Given the description of an element on the screen output the (x, y) to click on. 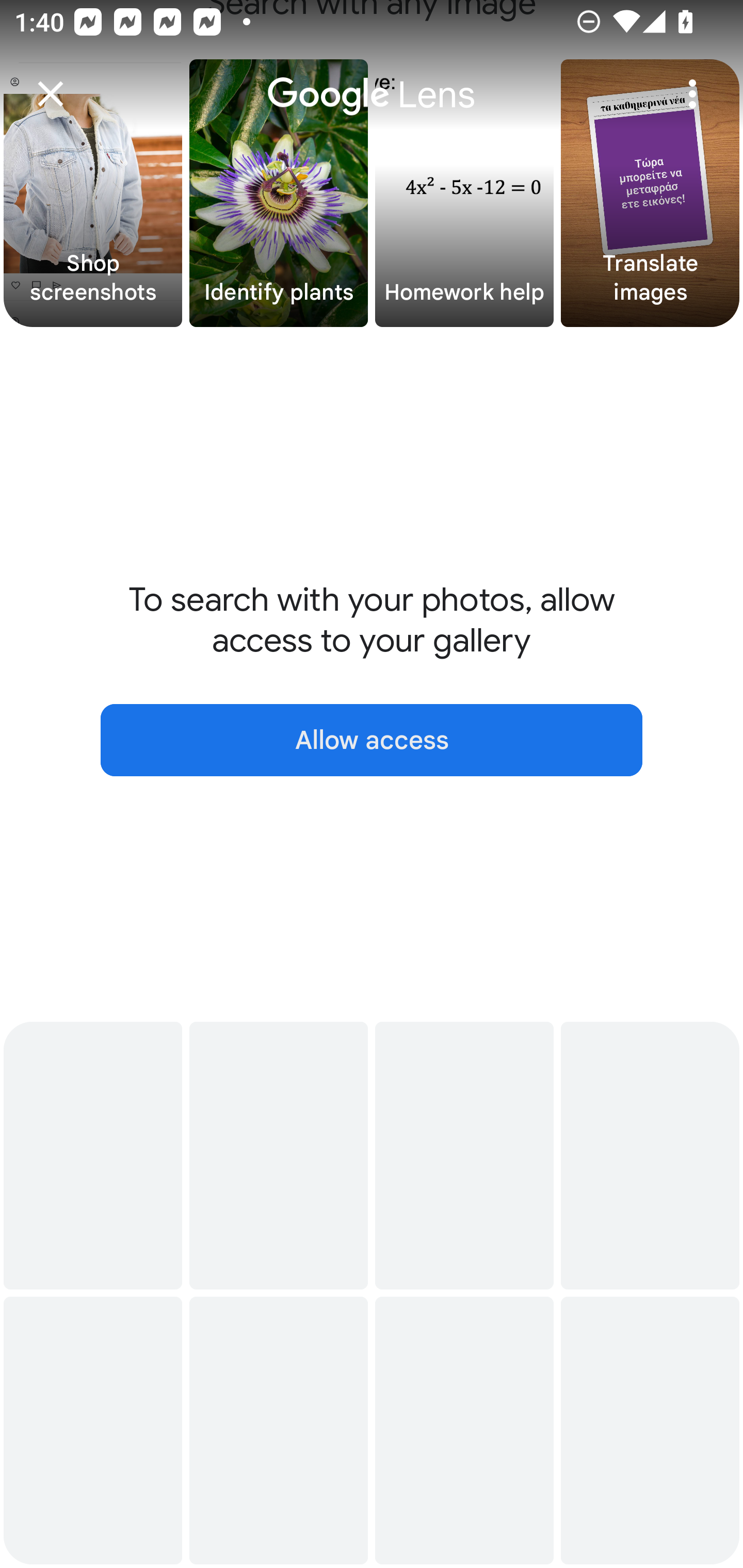
Close (50, 94)
Shop screenshots (92, 193)
Identify plants (278, 193)
Homework help (464, 193)
Translate images (649, 193)
Allow access (371, 740)
